Given the description of an element on the screen output the (x, y) to click on. 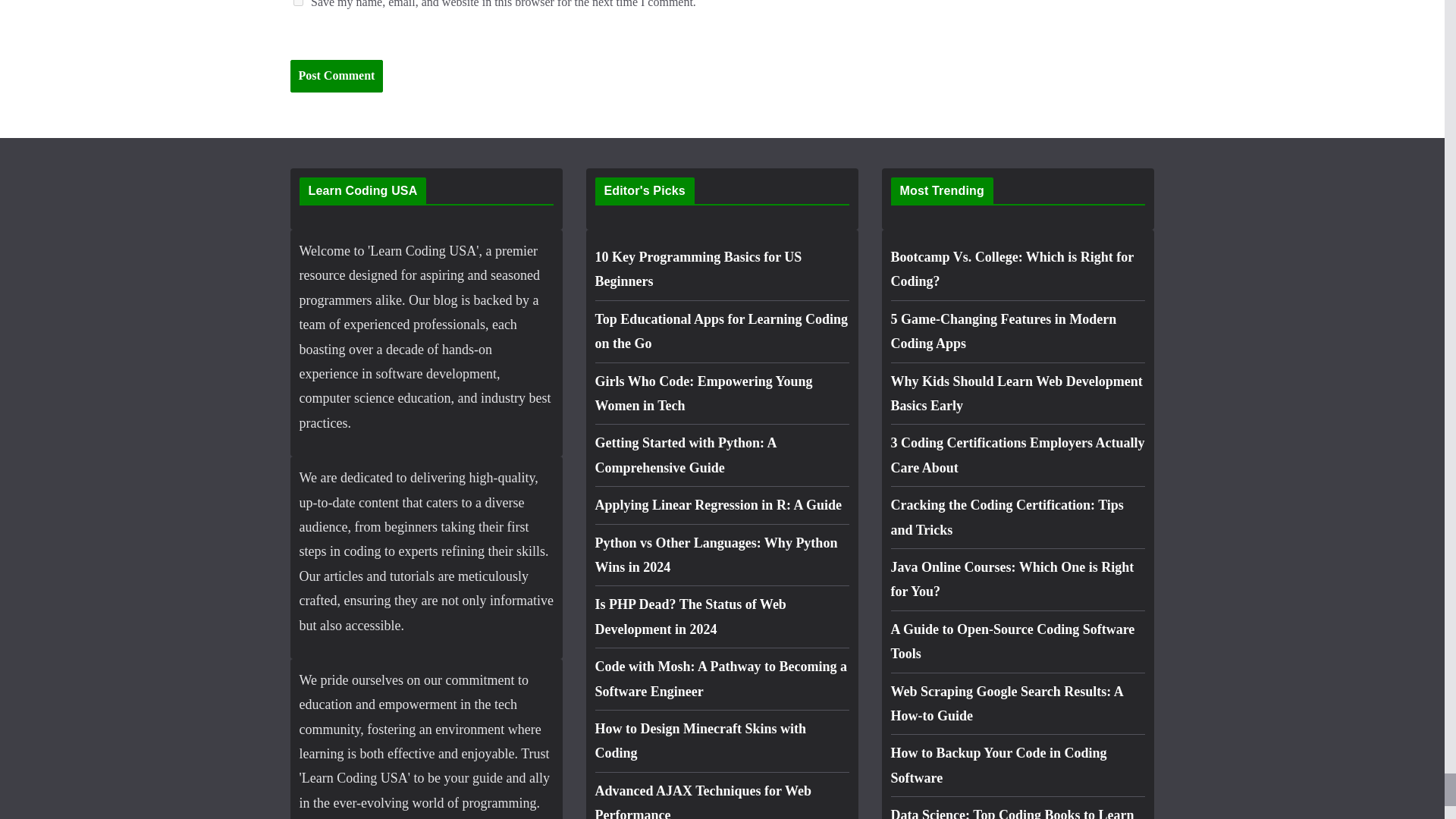
yes (297, 2)
Post Comment (335, 75)
